Given the description of an element on the screen output the (x, y) to click on. 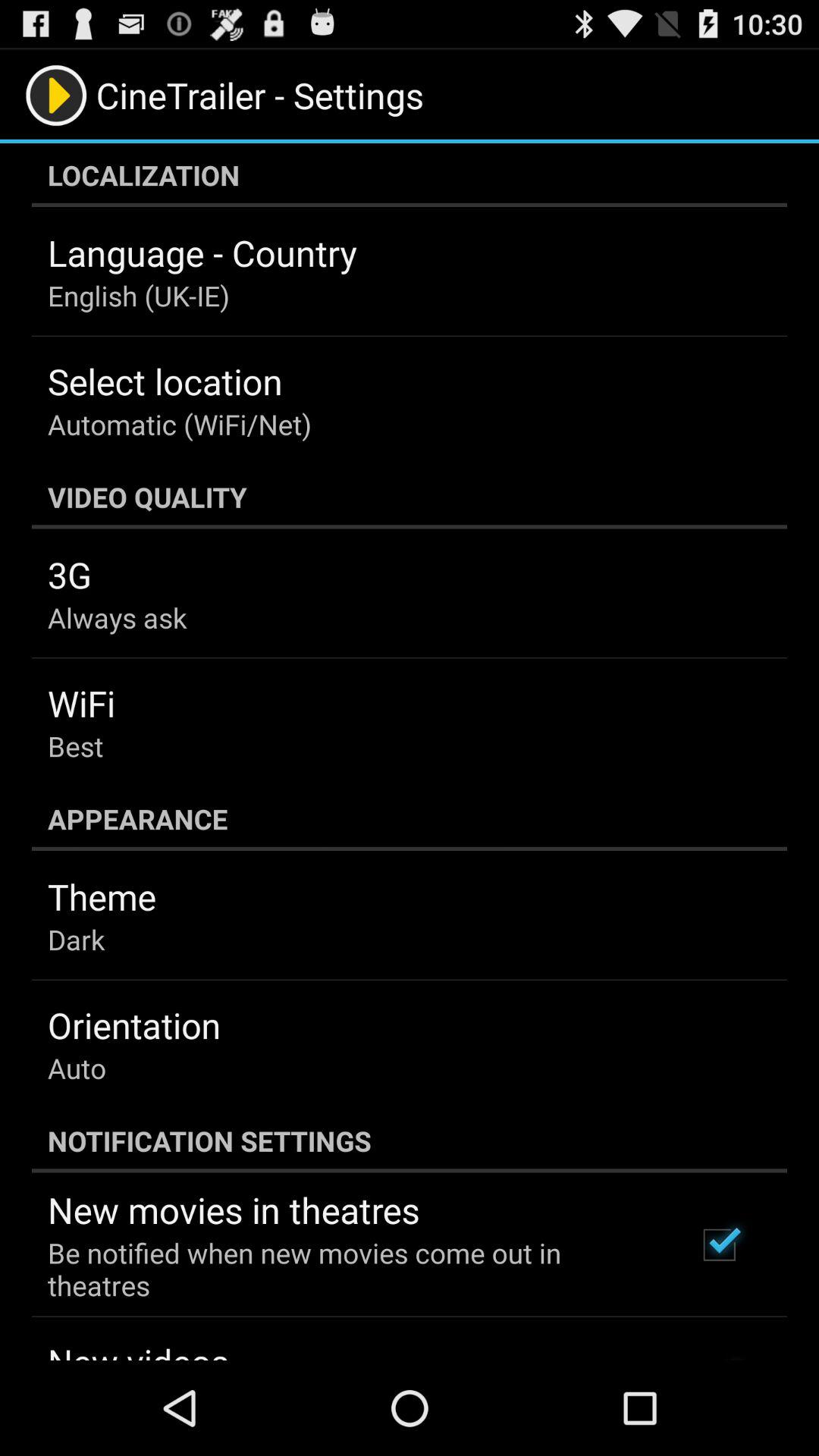
choose app above the language - country app (409, 175)
